Given the description of an element on the screen output the (x, y) to click on. 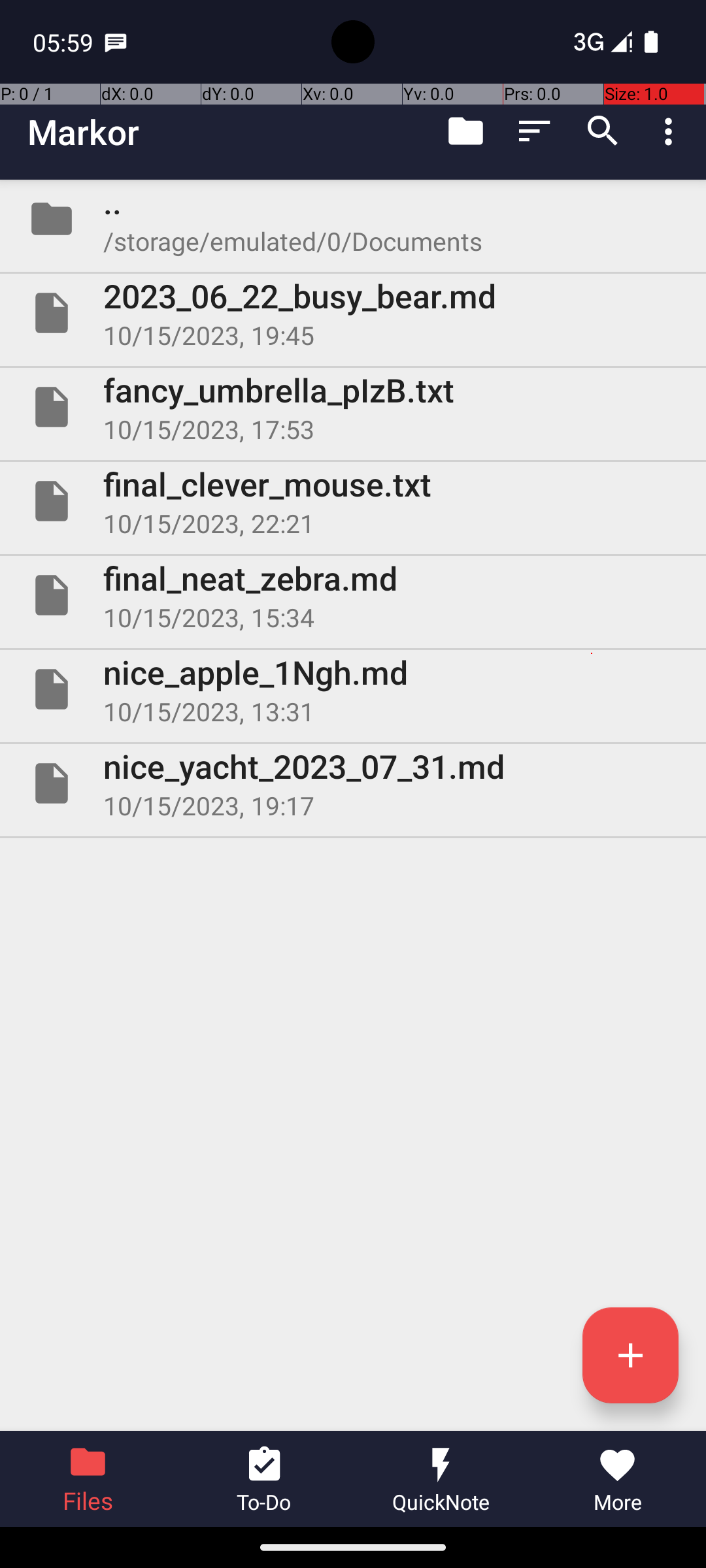
File 2023_06_22_busy_bear.md  Element type: android.widget.LinearLayout (353, 312)
File fancy_umbrella_pIzB.txt  Element type: android.widget.LinearLayout (353, 406)
File final_clever_mouse.txt  Element type: android.widget.LinearLayout (353, 500)
File final_neat_zebra.md  Element type: android.widget.LinearLayout (353, 594)
File nice_apple_1Ngh.md  Element type: android.widget.LinearLayout (353, 689)
File nice_yacht_2023_07_31.md  Element type: android.widget.LinearLayout (353, 783)
05:59 Element type: android.widget.TextView (64, 41)
